Given the description of an element on the screen output the (x, y) to click on. 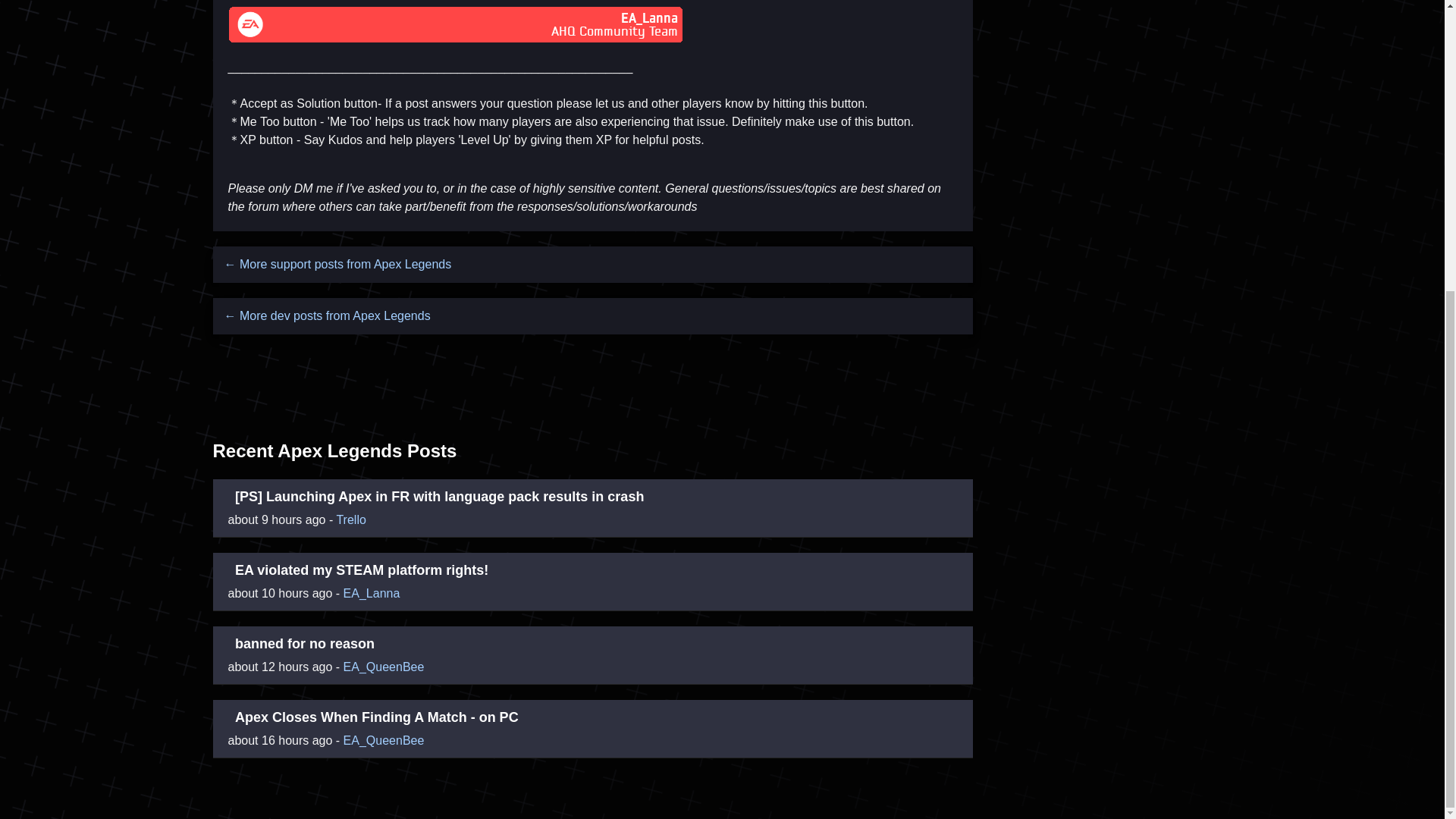
Trello (350, 519)
Apex Closes When Finding A Match - on PC (376, 717)
Lanna.png (454, 25)
EA violated my STEAM platform rights! (360, 570)
banned for no reason (304, 643)
